Given the description of an element on the screen output the (x, y) to click on. 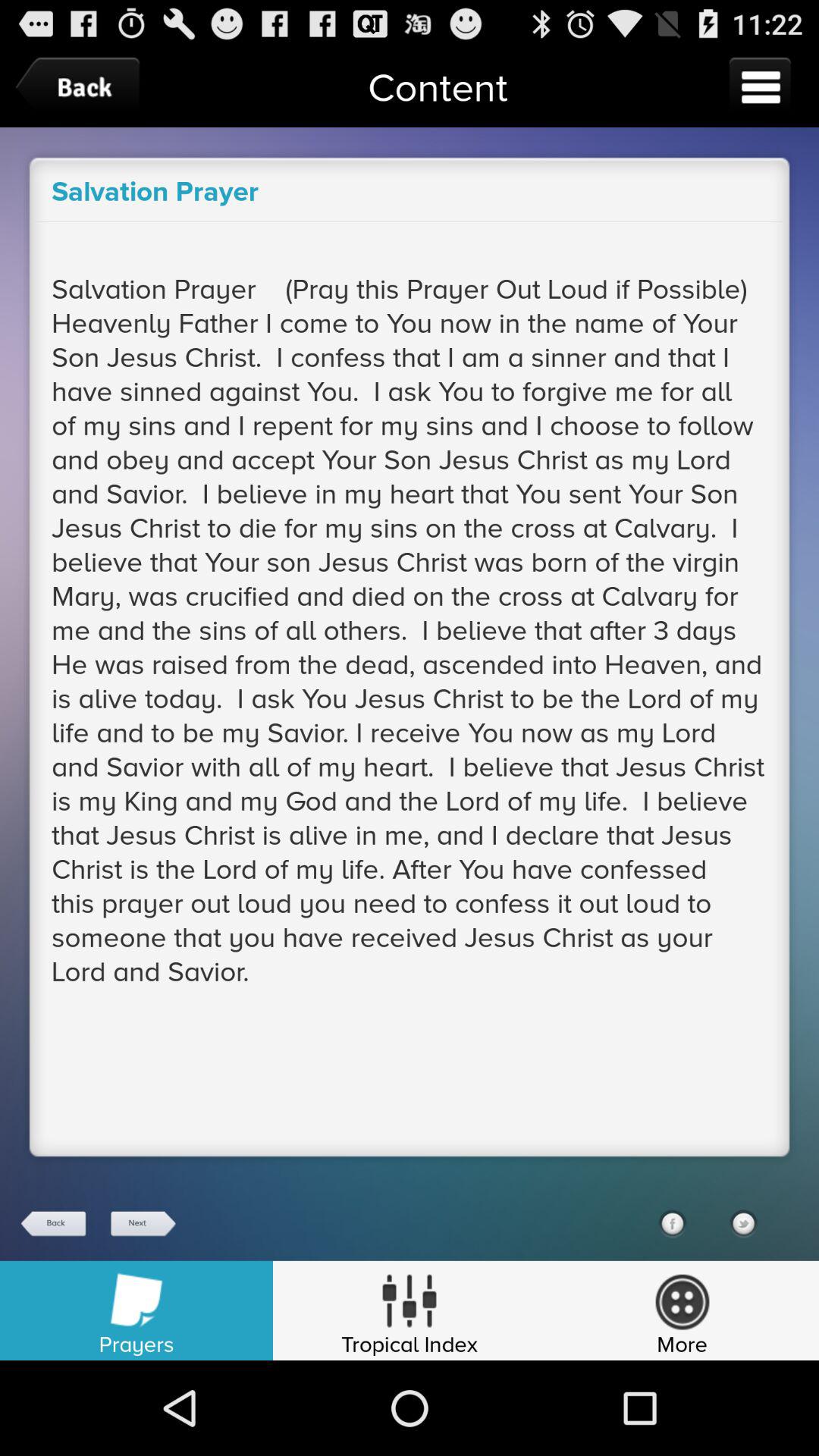
go back (53, 1223)
